Given the description of an element on the screen output the (x, y) to click on. 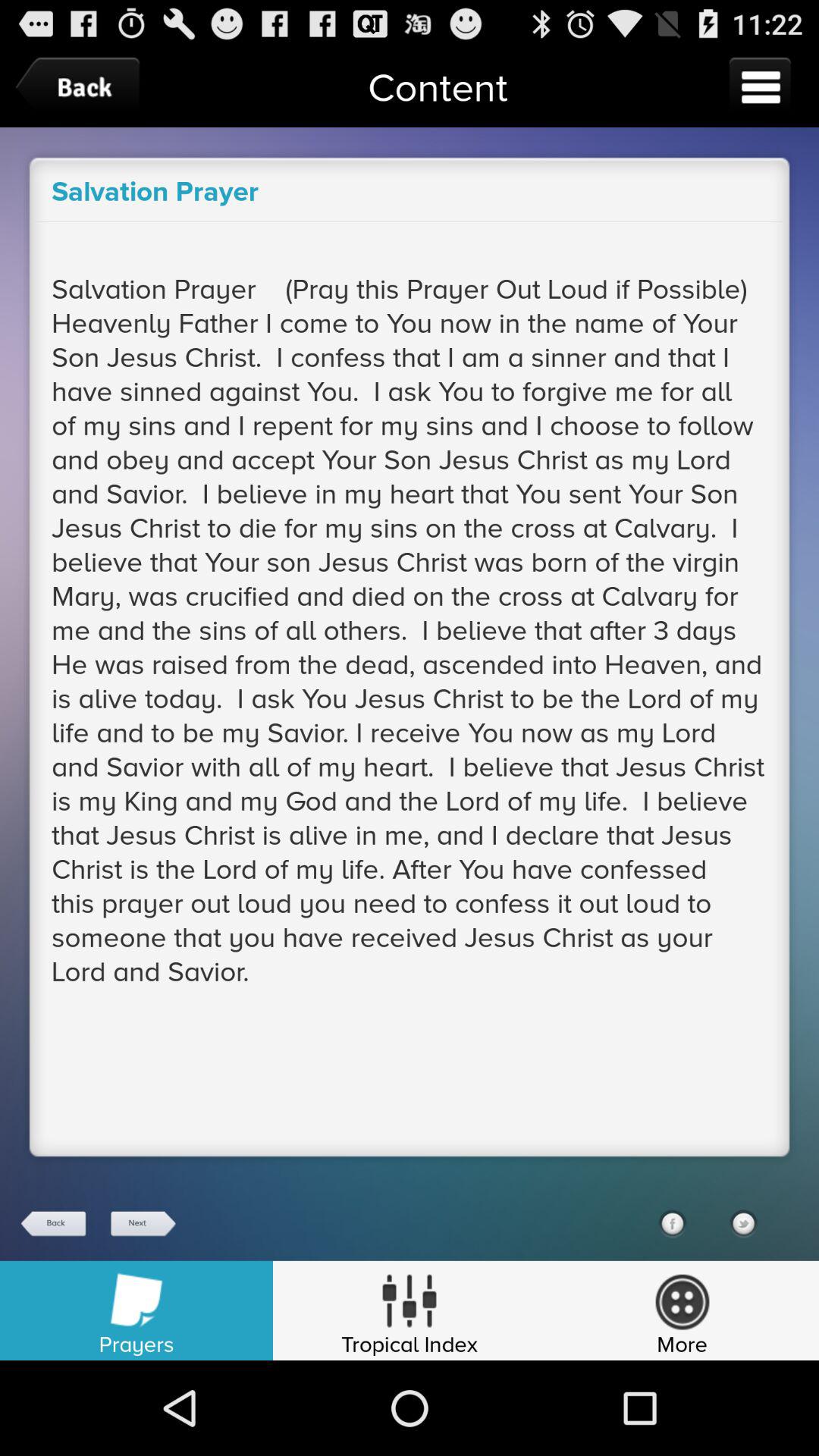
go back (53, 1223)
